Given the description of an element on the screen output the (x, y) to click on. 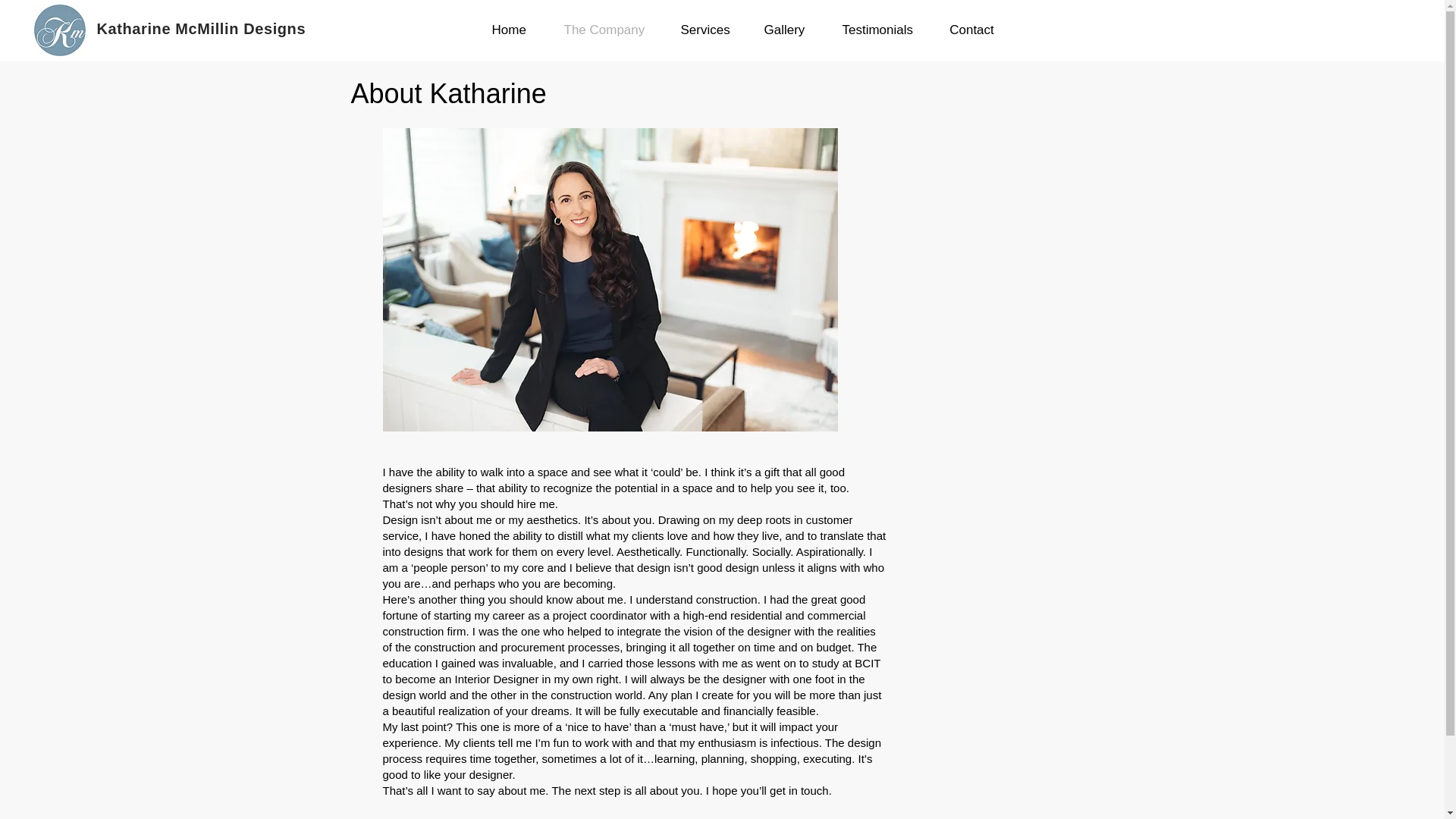
Testimonials (877, 29)
The Company (602, 29)
Services (702, 29)
Gallery (783, 29)
Contact (971, 29)
Home (508, 29)
